Given the description of an element on the screen output the (x, y) to click on. 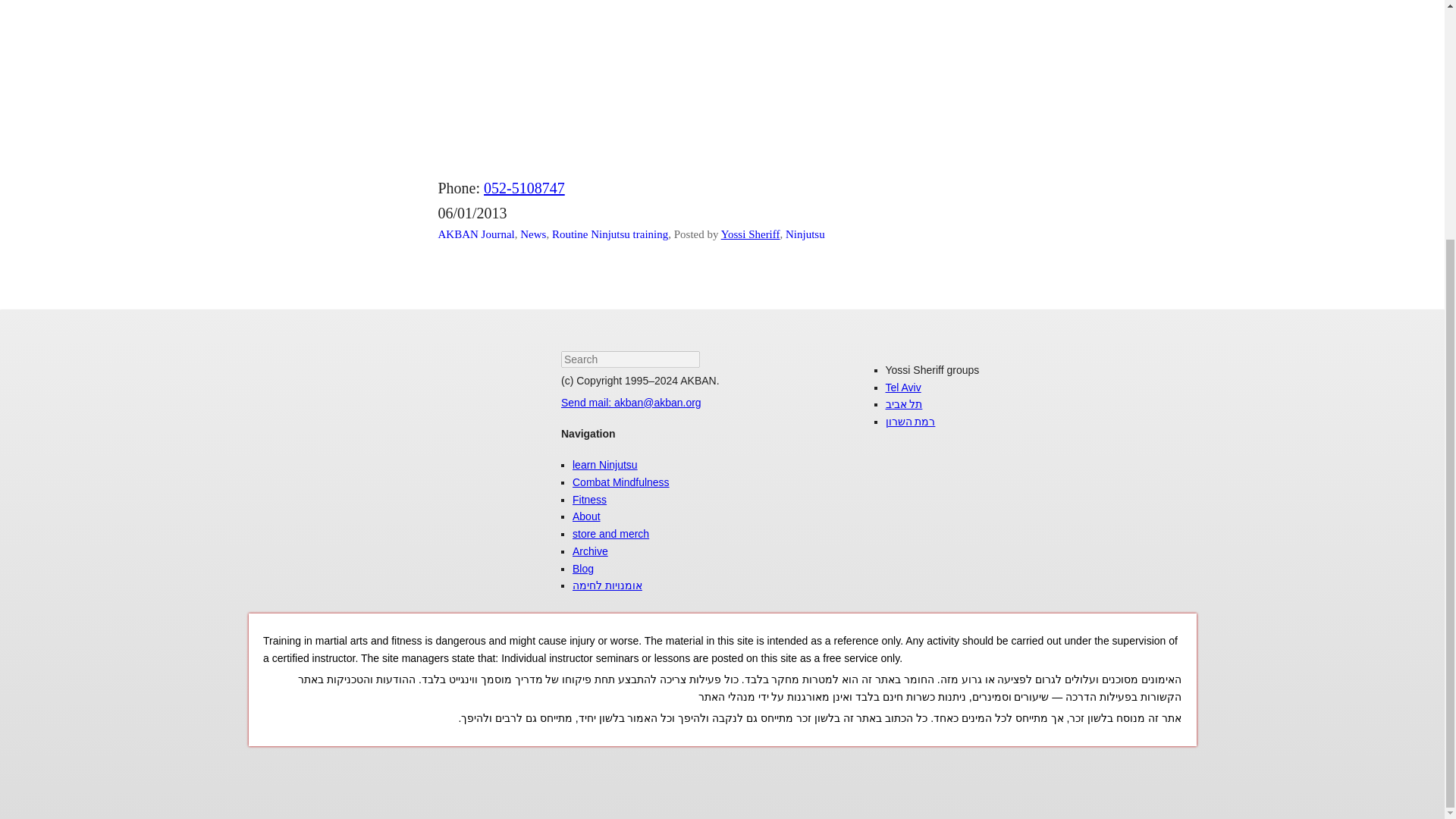
Blog (583, 568)
News (532, 234)
052-5108747 (523, 187)
Learn Ninjutsu, Martial Art in AKBAN (604, 464)
Combat Mindfulness (620, 481)
AKBAN Journal (476, 234)
Spiritual strength, Emotional Regulation, resilience (620, 481)
Archive (590, 551)
Fitness (589, 499)
Routine Ninjutsu training (609, 234)
